Given the description of an element on the screen output the (x, y) to click on. 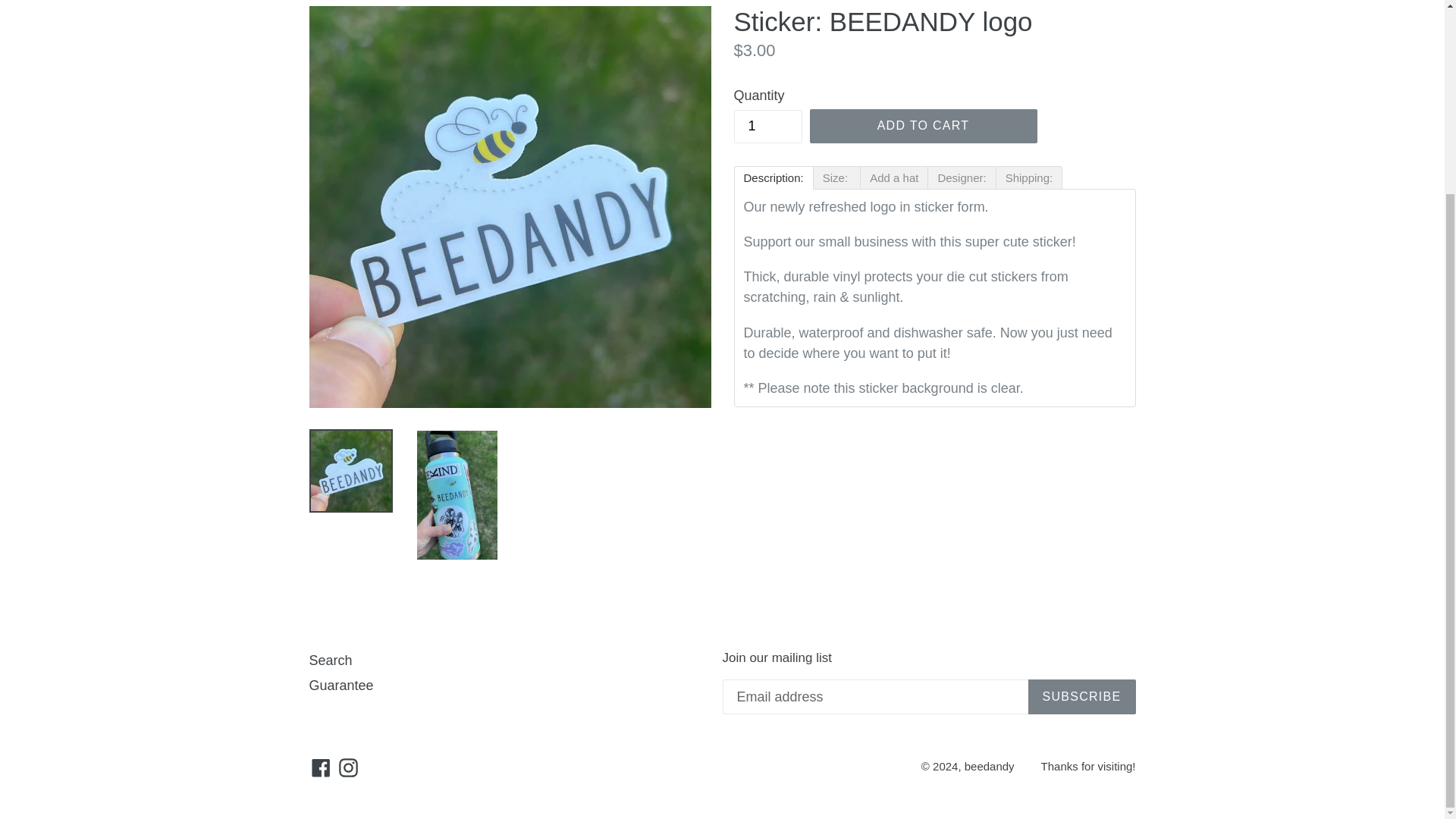
beedandy on Instagram (347, 766)
1 (767, 126)
beedandy on Facebook (320, 766)
